Given the description of an element on the screen output the (x, y) to click on. 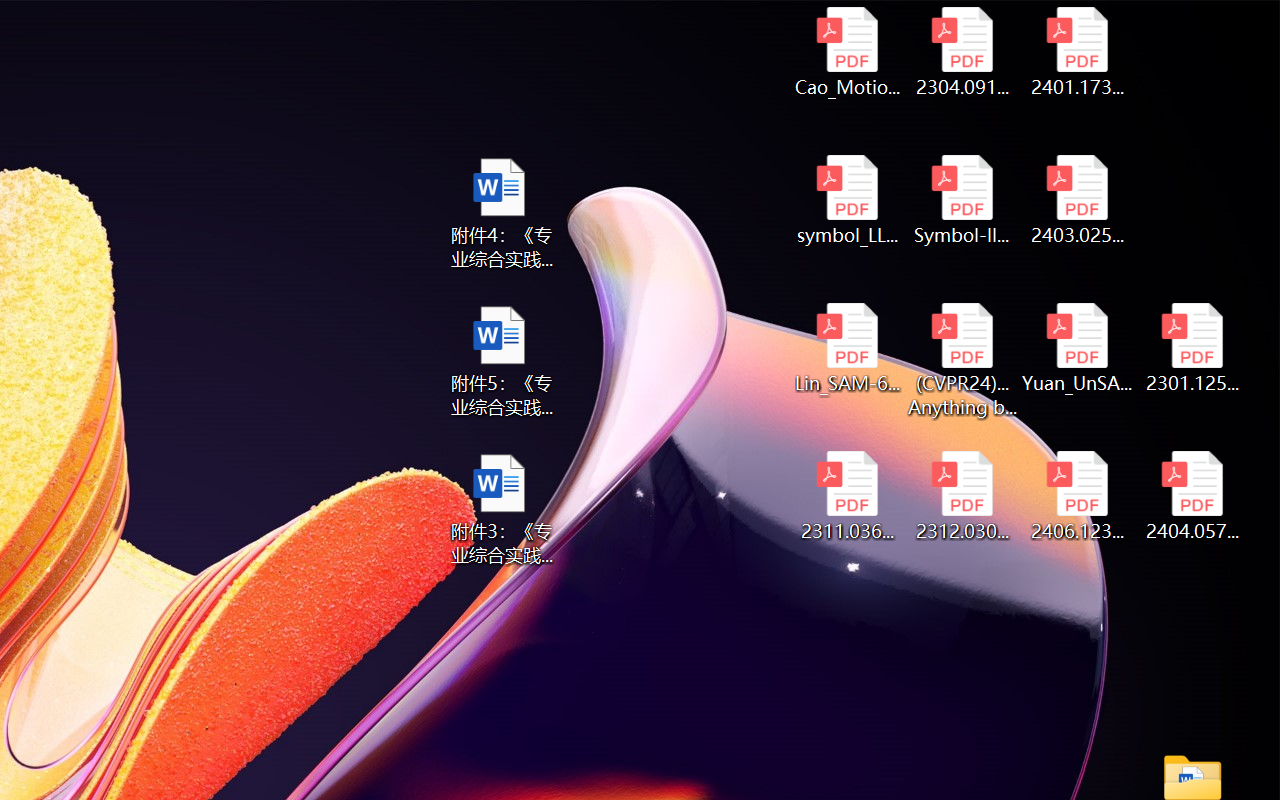
symbol_LLM.pdf (846, 200)
2401.17399v1.pdf (1077, 52)
2312.03032v2.pdf (962, 496)
2406.12373v2.pdf (1077, 496)
2311.03658v2.pdf (846, 496)
Symbol-llm-v2.pdf (962, 200)
2404.05719v1.pdf (1192, 496)
2403.02502v1.pdf (1077, 200)
(CVPR24)Matching Anything by Segmenting Anything.pdf (962, 360)
2304.09121v3.pdf (962, 52)
